Given the description of an element on the screen output the (x, y) to click on. 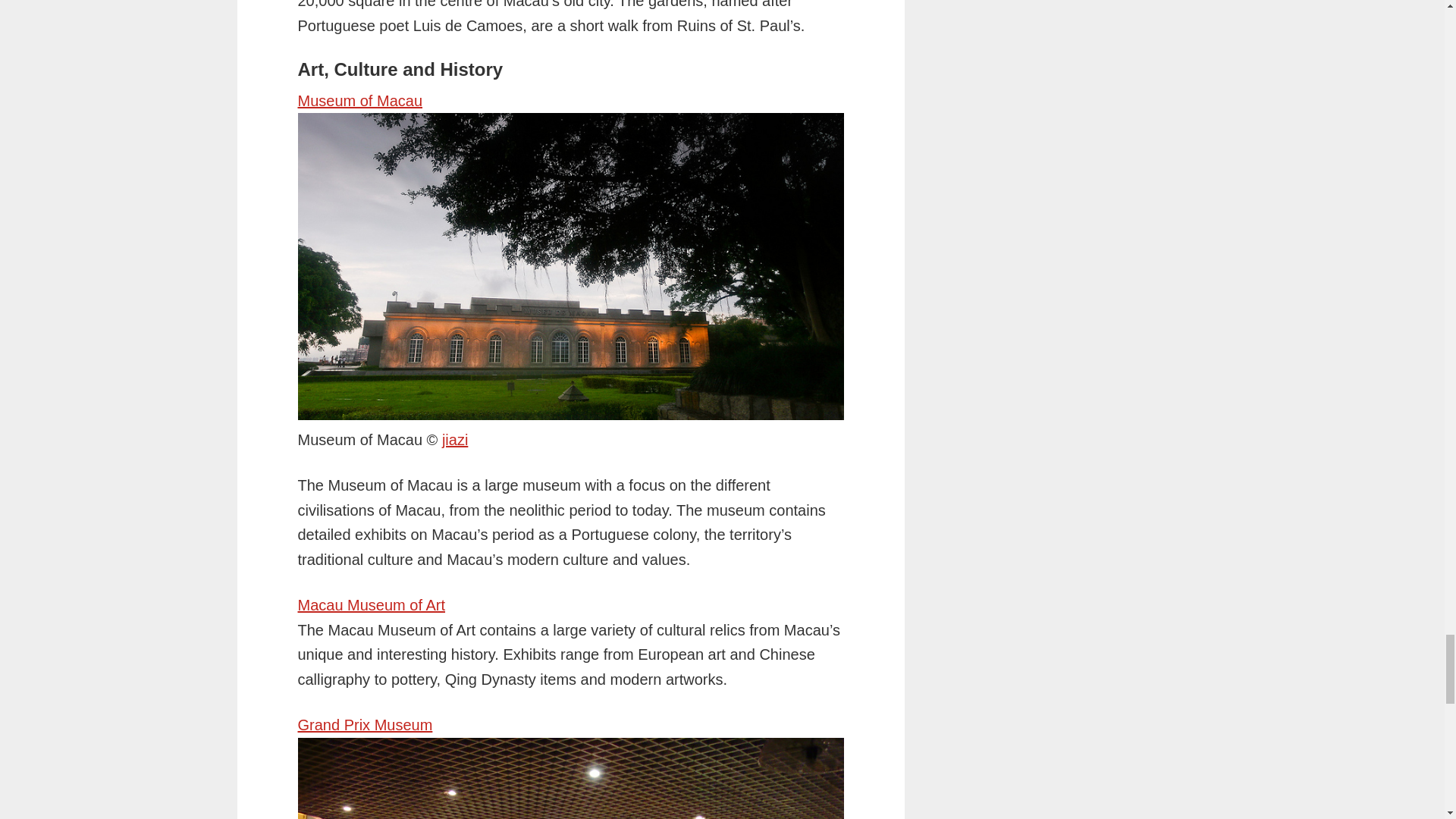
Museum of Macau (454, 439)
jiazi (454, 439)
Grand Prix Museum (364, 724)
Macau Museum of Art (371, 605)
Museum of Macau (359, 100)
